Given the description of an element on the screen output the (x, y) to click on. 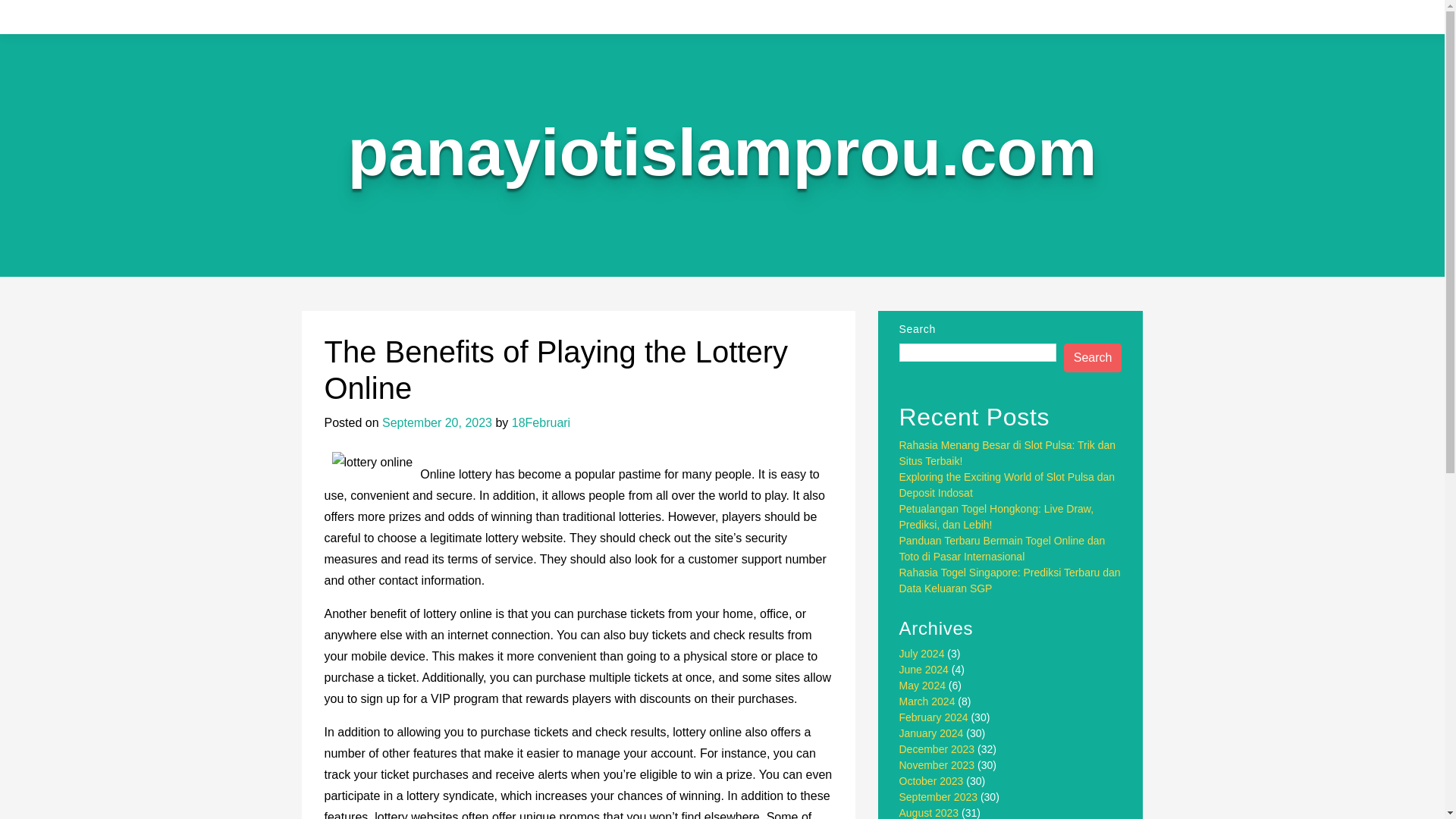
Search (1093, 357)
March 2024 (927, 701)
September 20, 2023 (436, 422)
Petualangan Togel Hongkong: Live Draw, Prediksi, dan Lebih! (996, 516)
February 2024 (933, 717)
October 2023 (931, 780)
July 2024 (921, 653)
Rahasia Menang Besar di Slot Pulsa: Trik dan Situs Terbaik! (1007, 452)
18Februari (541, 422)
June 2024 (924, 669)
September 2023 (938, 797)
November 2023 (937, 765)
